Given the description of an element on the screen output the (x, y) to click on. 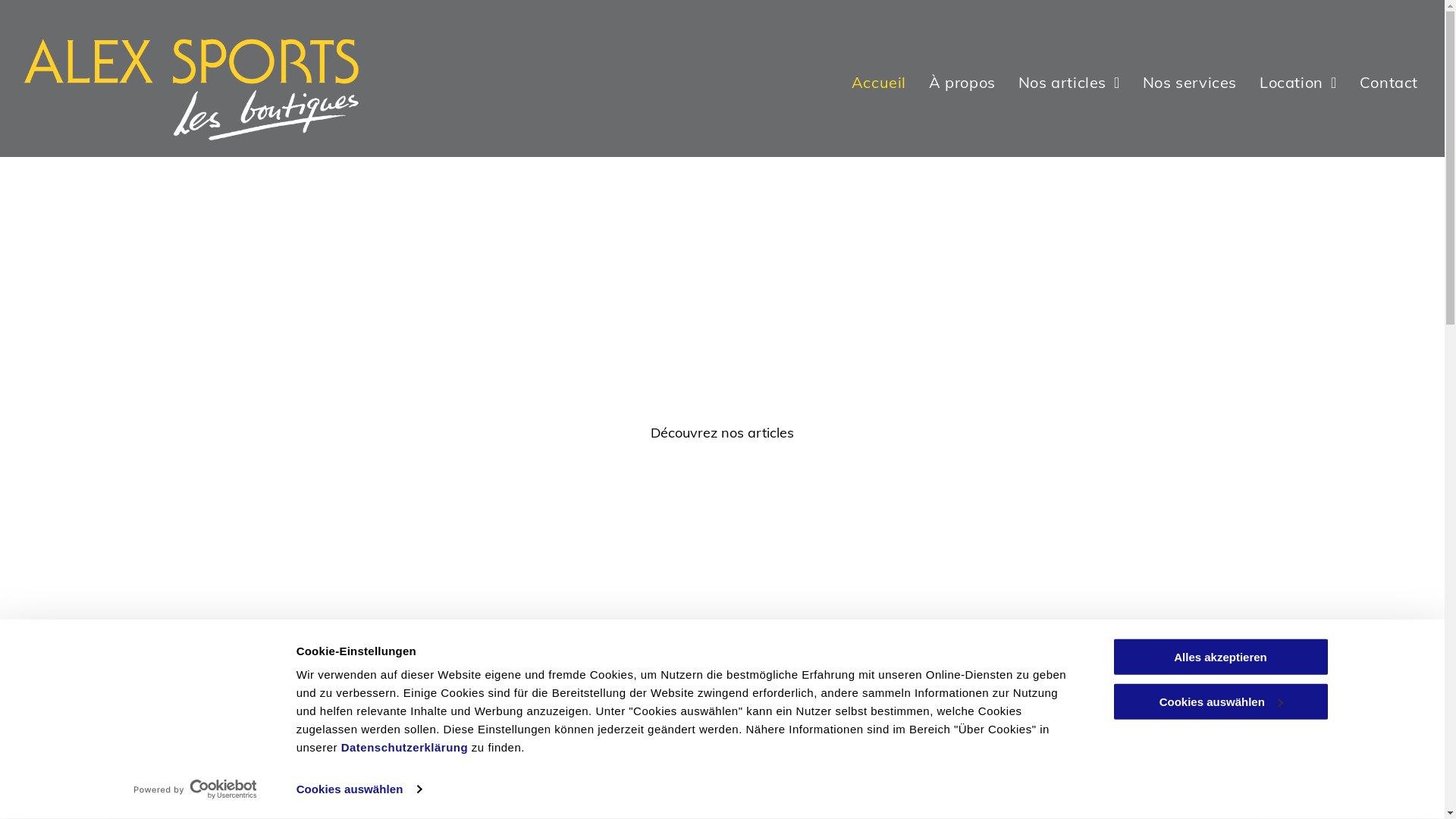
Nos articles Element type: text (1069, 82)
Location Element type: text (1298, 82)
Accueil Element type: text (878, 82)
Nos services Element type: text (1189, 82)
Alles akzeptieren Element type: text (1219, 656)
Contact Element type: text (1388, 82)
